Given the description of an element on the screen output the (x, y) to click on. 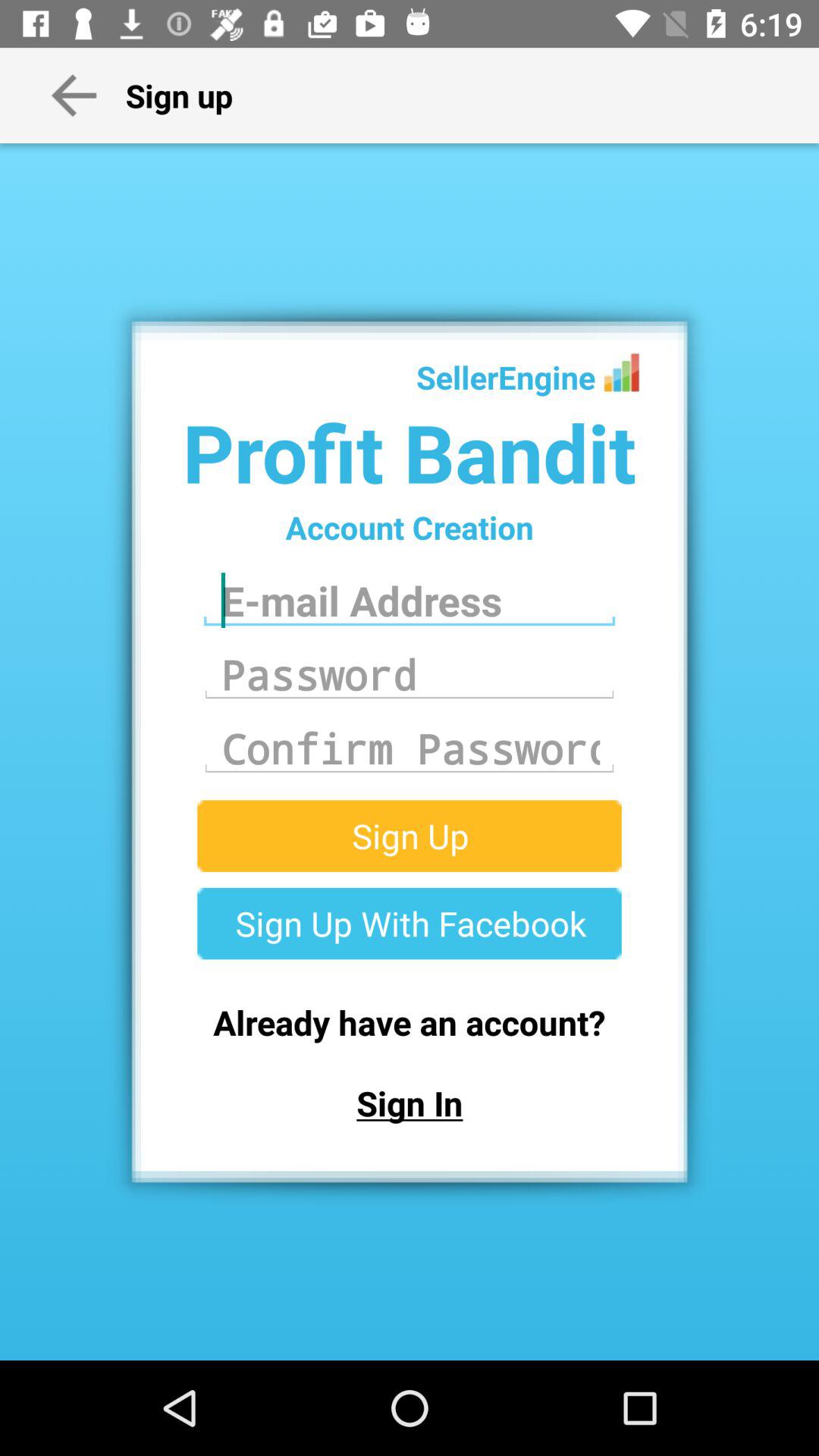
enter password (409, 674)
